Given the description of an element on the screen output the (x, y) to click on. 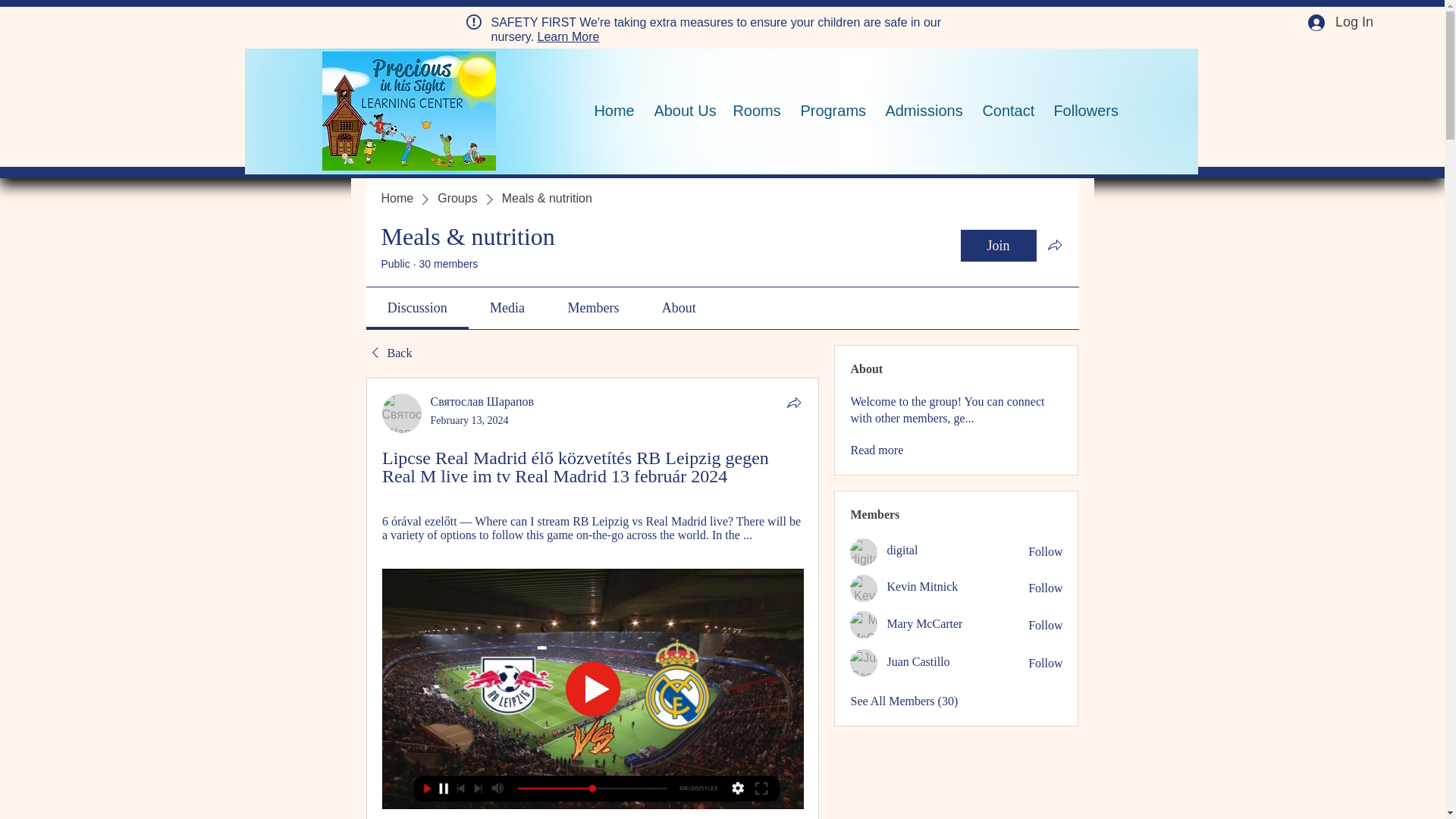
Follow (1044, 625)
Followers (1084, 110)
Learn More (568, 36)
Join (997, 245)
Programs (831, 110)
Kevin Mitnick (922, 585)
Kevin Mitnick (863, 587)
Rooms (754, 110)
Admissions (922, 110)
Follow (1044, 551)
Follow (1044, 588)
Follow (1044, 663)
LOGO.JPG (408, 110)
Groups (457, 198)
About Us (681, 110)
